Given the description of an element on the screen output the (x, y) to click on. 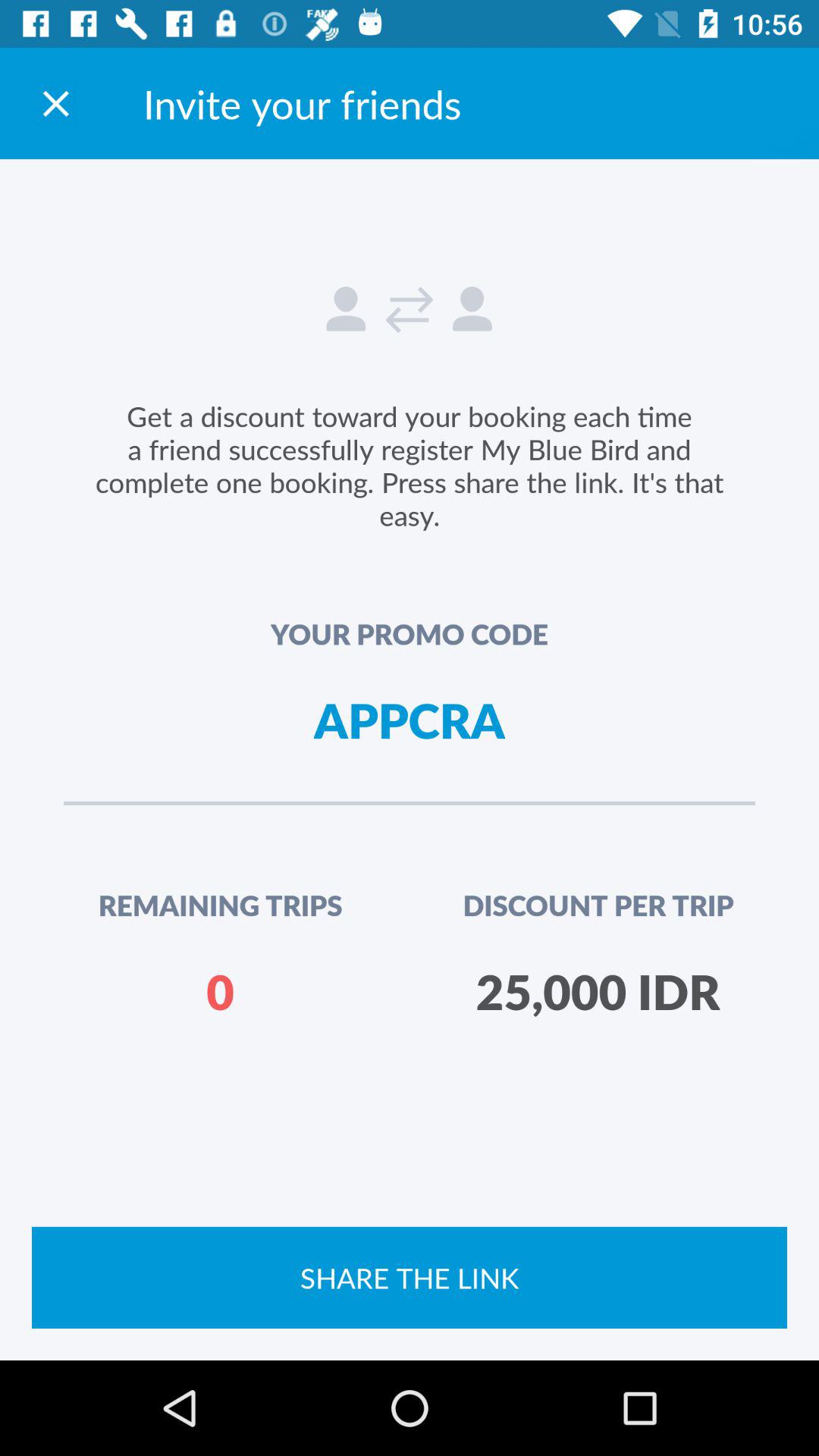
return to the app home screen (55, 103)
